Given the description of an element on the screen output the (x, y) to click on. 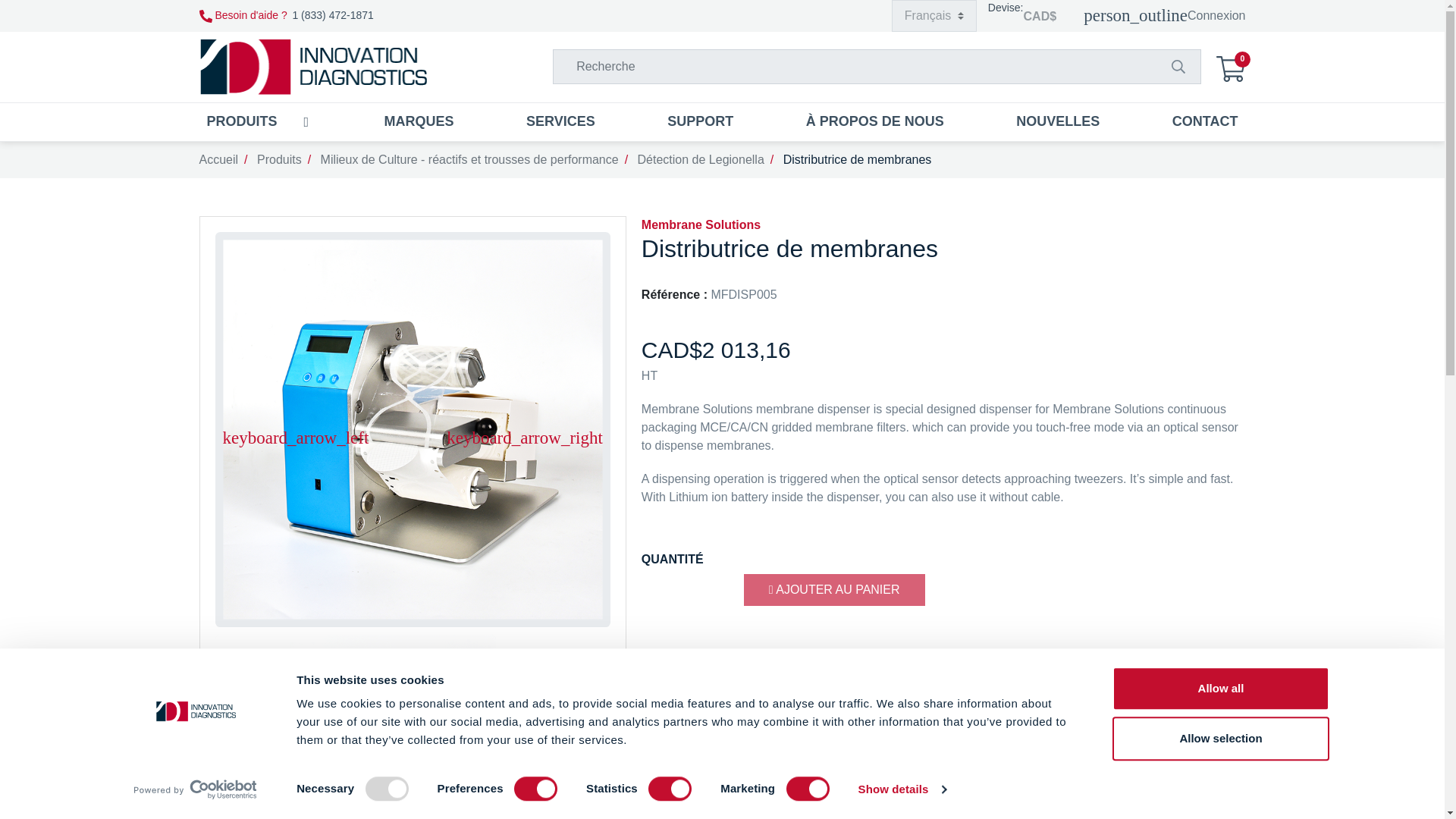
Allow selection (1219, 738)
Show details (900, 789)
Identifiez-vous (1163, 15)
